Given the description of an element on the screen output the (x, y) to click on. 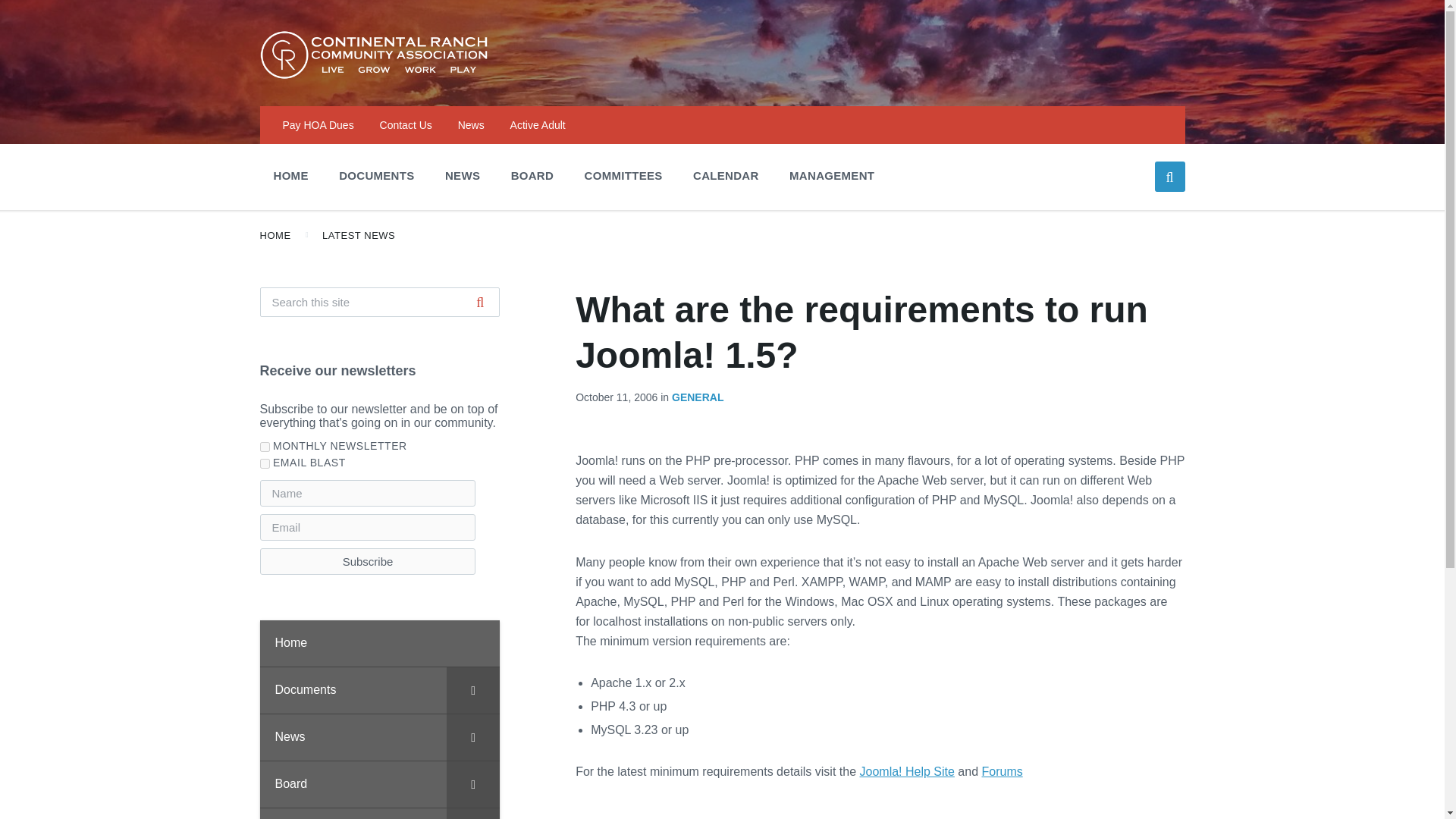
Subscribe (367, 560)
COMMITTEES (623, 175)
The Joomla! Community Forums (1001, 771)
Contact Us (406, 124)
DOCUMENTS (376, 175)
Search (480, 302)
NEWS (462, 175)
HOME (290, 175)
Active Adult (538, 124)
Pay HOA Dues (317, 124)
News (471, 124)
Joomla! Help Site (907, 771)
BOARD (532, 175)
5 (264, 447)
6 (264, 463)
